Given the description of an element on the screen output the (x, y) to click on. 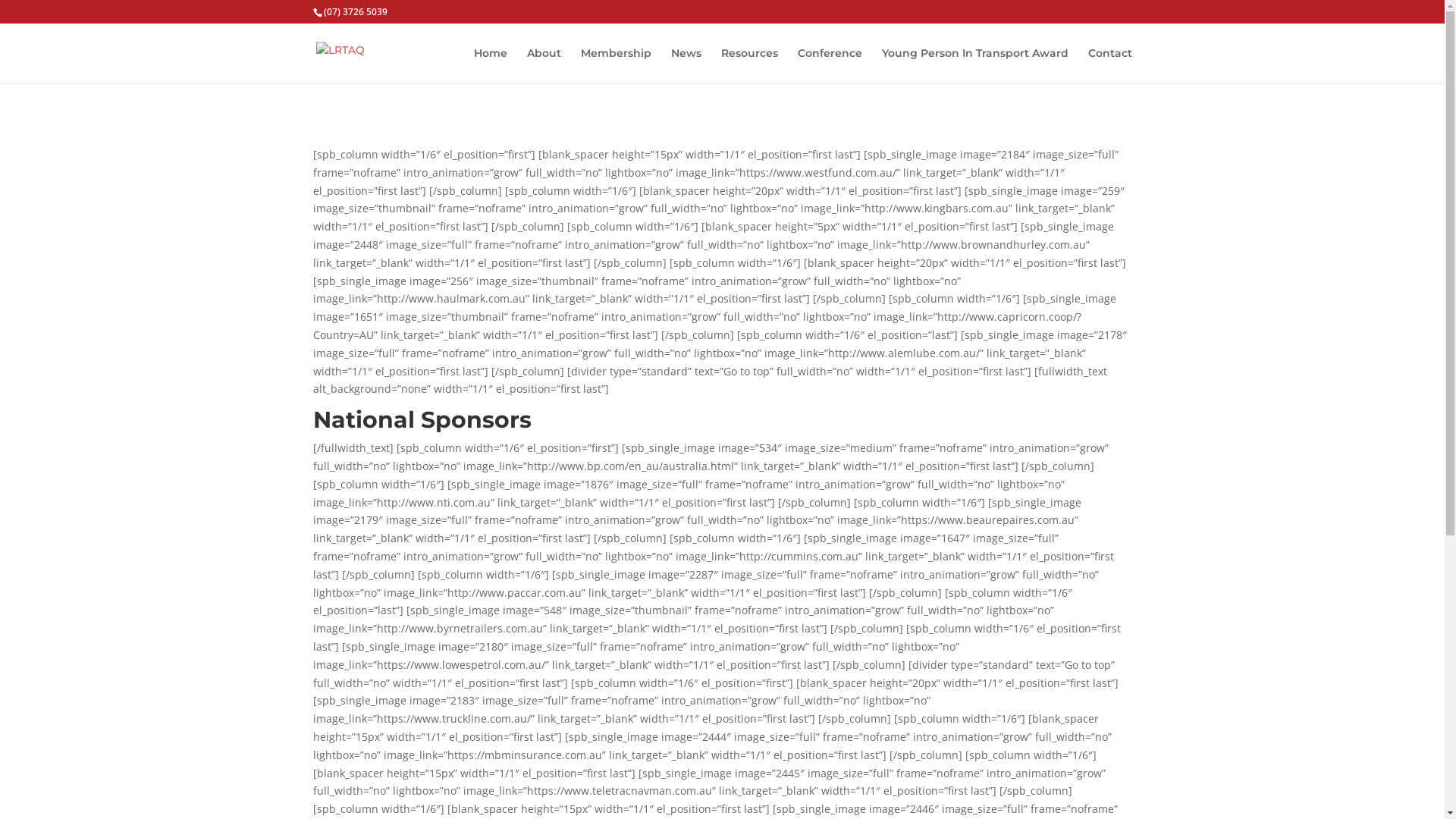
Conference Element type: text (829, 65)
Resources Element type: text (748, 65)
Home Element type: text (489, 65)
News Element type: text (685, 65)
Contact Element type: text (1109, 65)
About Element type: text (543, 65)
Membership Element type: text (615, 65)
Young Person In Transport Award Element type: text (974, 65)
